Given the description of an element on the screen output the (x, y) to click on. 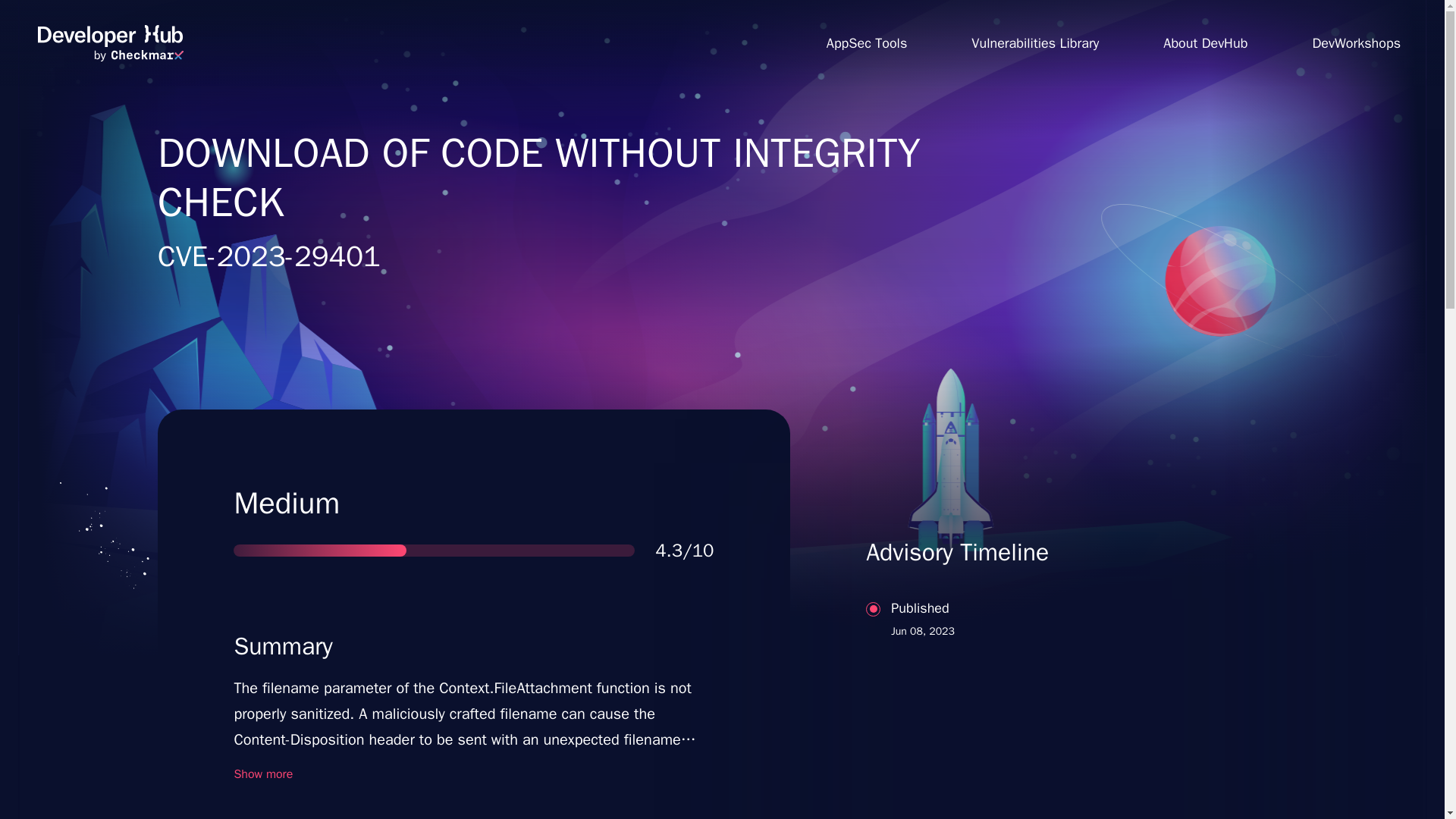
Show more (262, 773)
Vulnerabilities Library (1035, 43)
About DevHub (1205, 43)
AppSec Tools (866, 43)
Goto website home page (1037, 678)
DevWorkshops (110, 43)
